Given the description of an element on the screen output the (x, y) to click on. 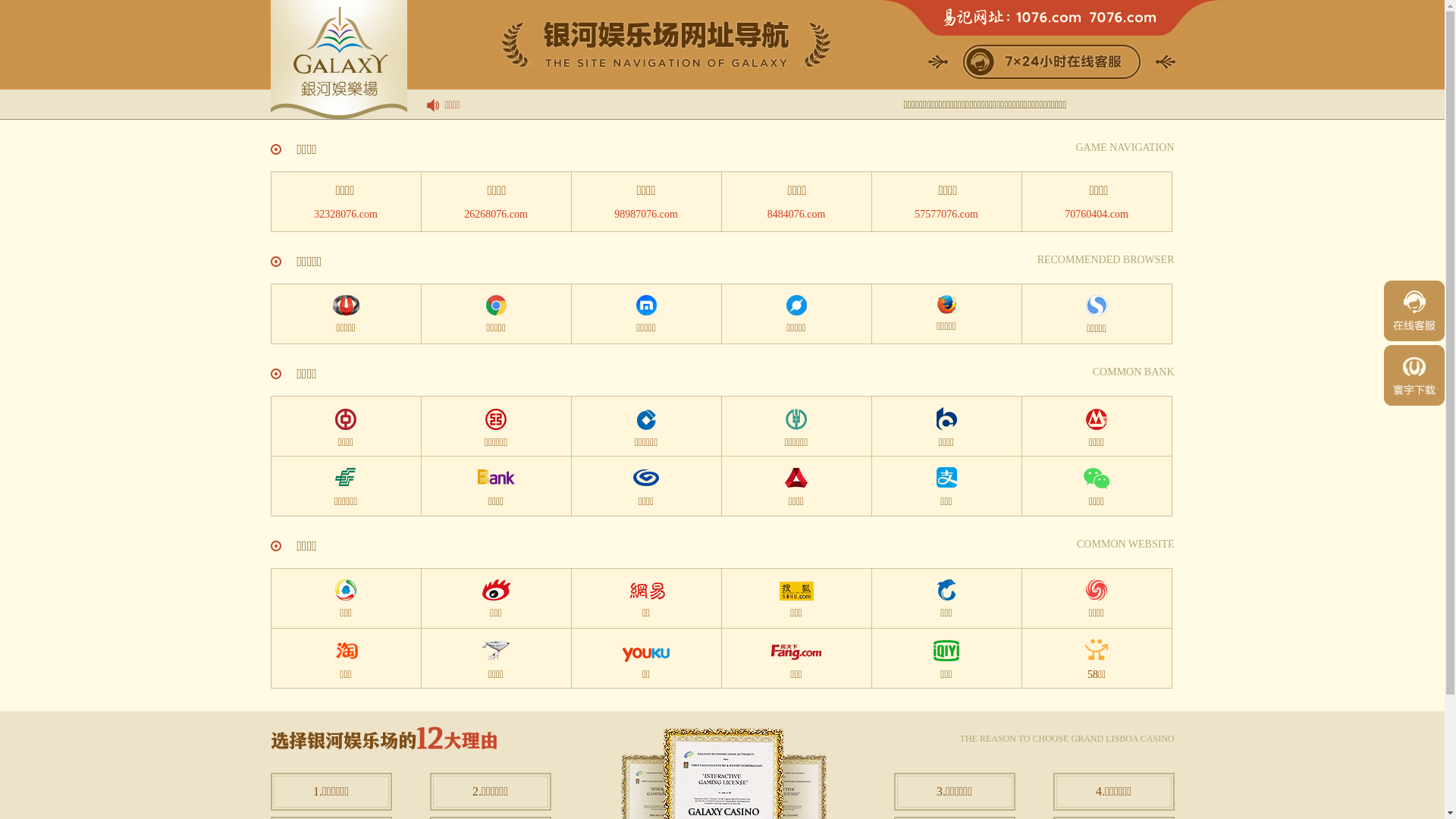
32328076.com Element type: text (345, 201)
26268076.com Element type: text (496, 201)
57577076.com Element type: text (946, 201)
8484076.com Element type: text (796, 201)
70760404.com Element type: text (1096, 201)
98987076.com Element type: text (646, 201)
